Given the description of an element on the screen output the (x, y) to click on. 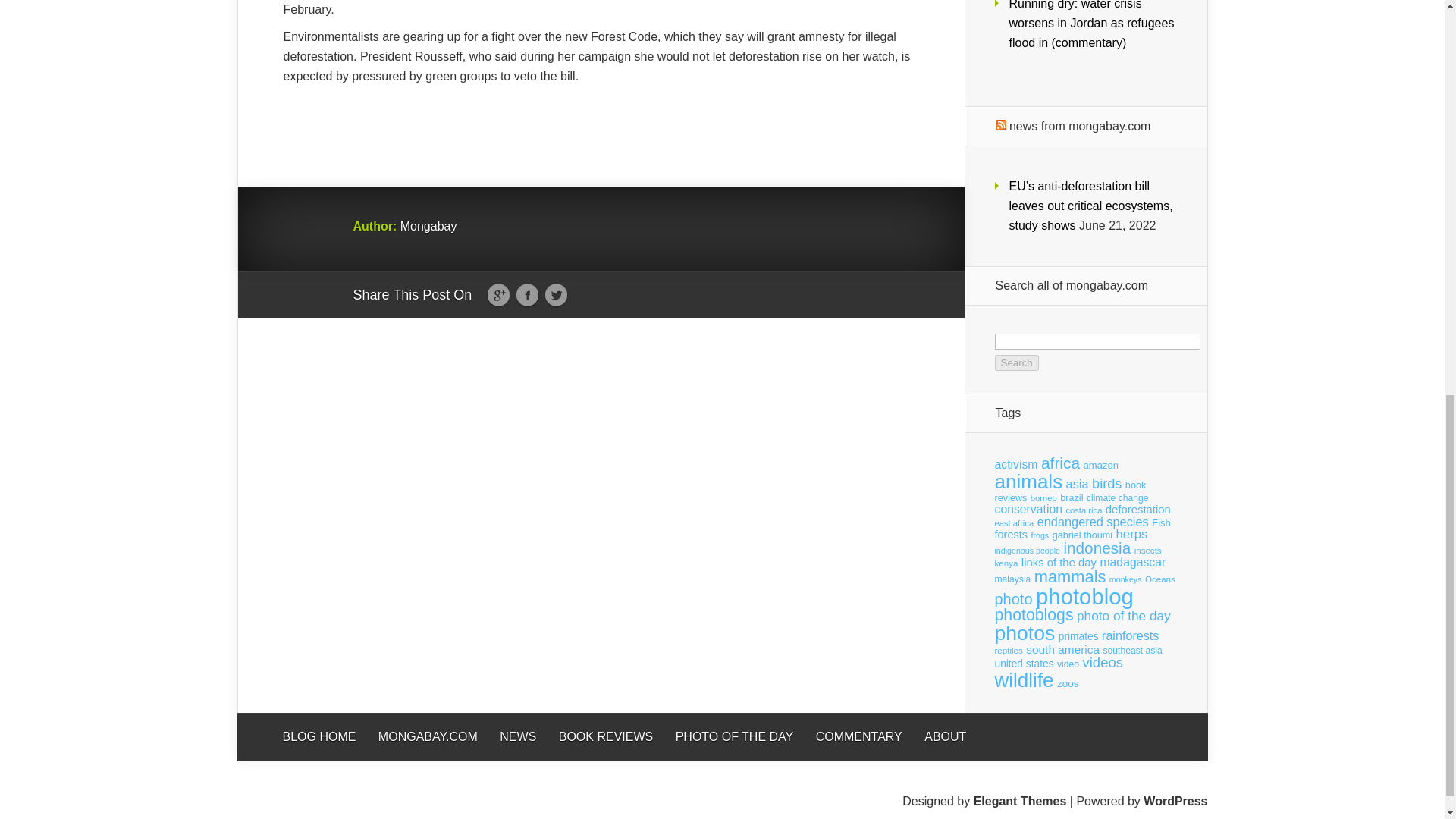
news from mongabay.com (1079, 125)
Twitter (555, 295)
Facebook (526, 295)
Premium WordPress Themes (1020, 800)
Search (1016, 362)
Google (498, 295)
activism (1016, 463)
Search (1016, 362)
